Given the description of an element on the screen output the (x, y) to click on. 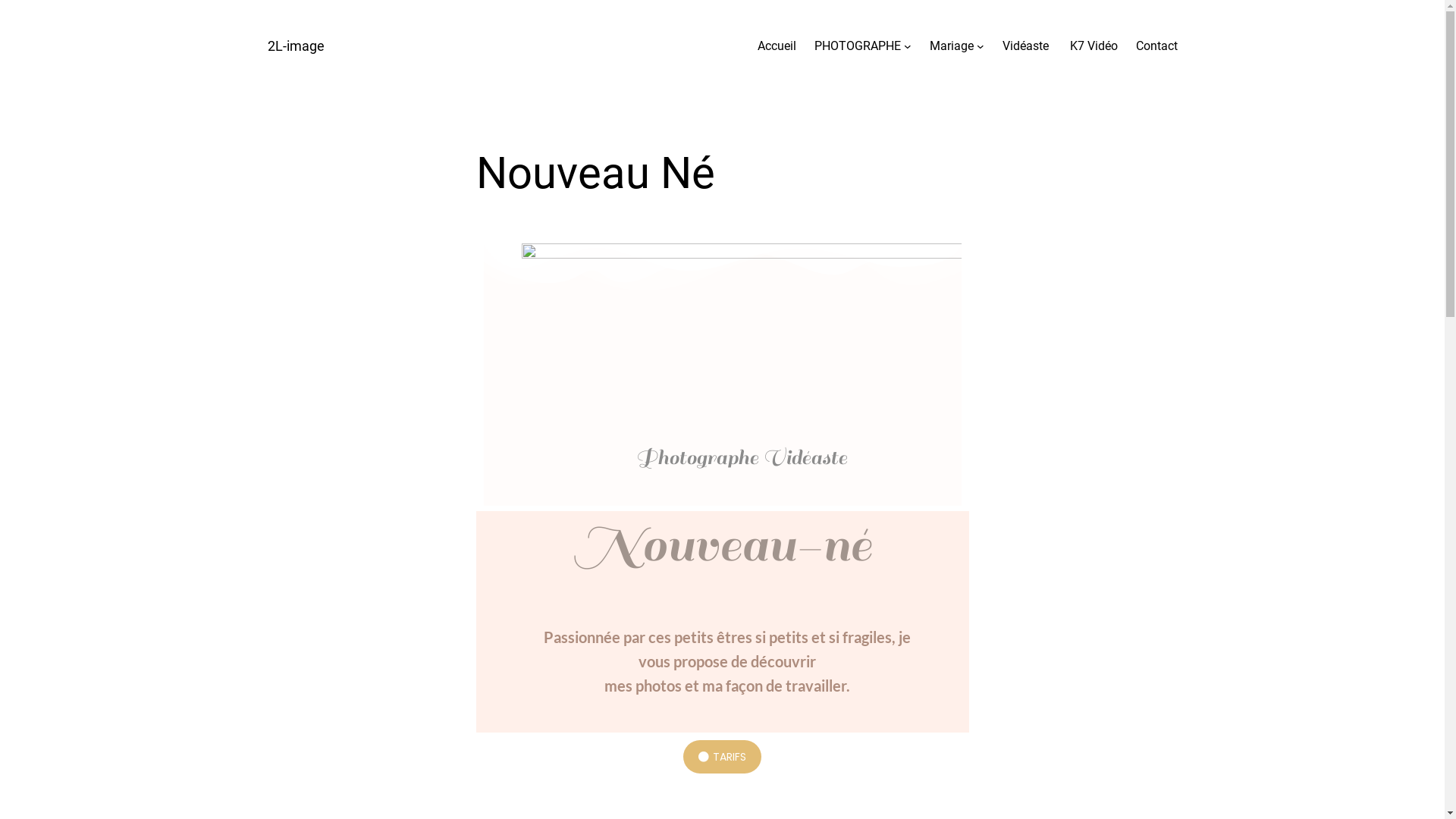
2L-image Element type: text (294, 45)
Mariage Element type: text (951, 46)
TARIFS Element type: text (722, 756)
Accueil Element type: text (776, 46)
PHOTOGRAPHE Element type: text (857, 46)
Contact Element type: text (1156, 46)
